Given the description of an element on the screen output the (x, y) to click on. 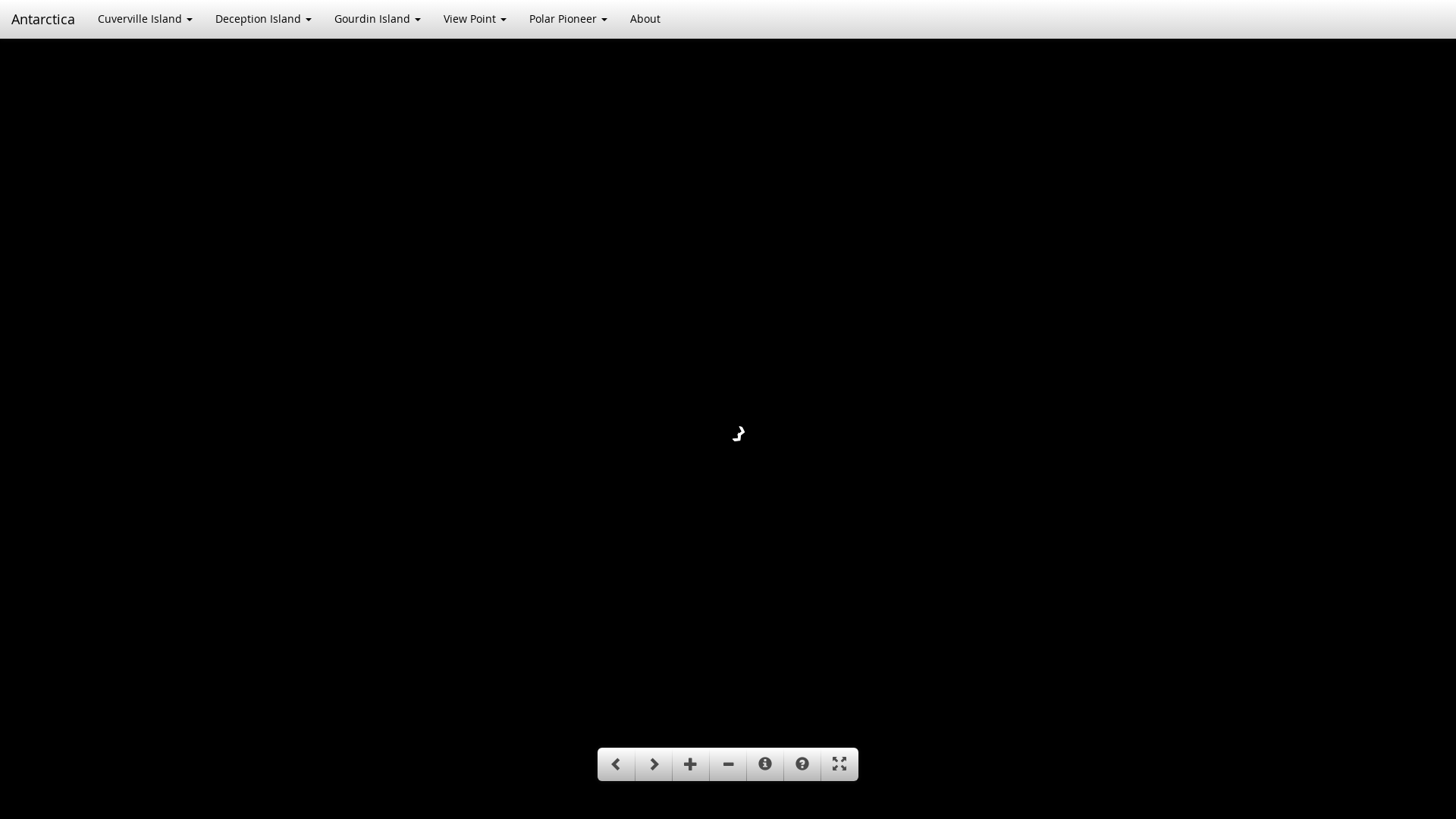
View Point Element type: text (474, 18)
Antarctica Element type: text (43, 18)
Deception Island Element type: text (263, 18)
Gourdin Island Element type: text (377, 18)
Cuverville Island Element type: text (144, 18)
About Element type: text (644, 18)
Polar Pioneer Element type: text (567, 18)
